Given the description of an element on the screen output the (x, y) to click on. 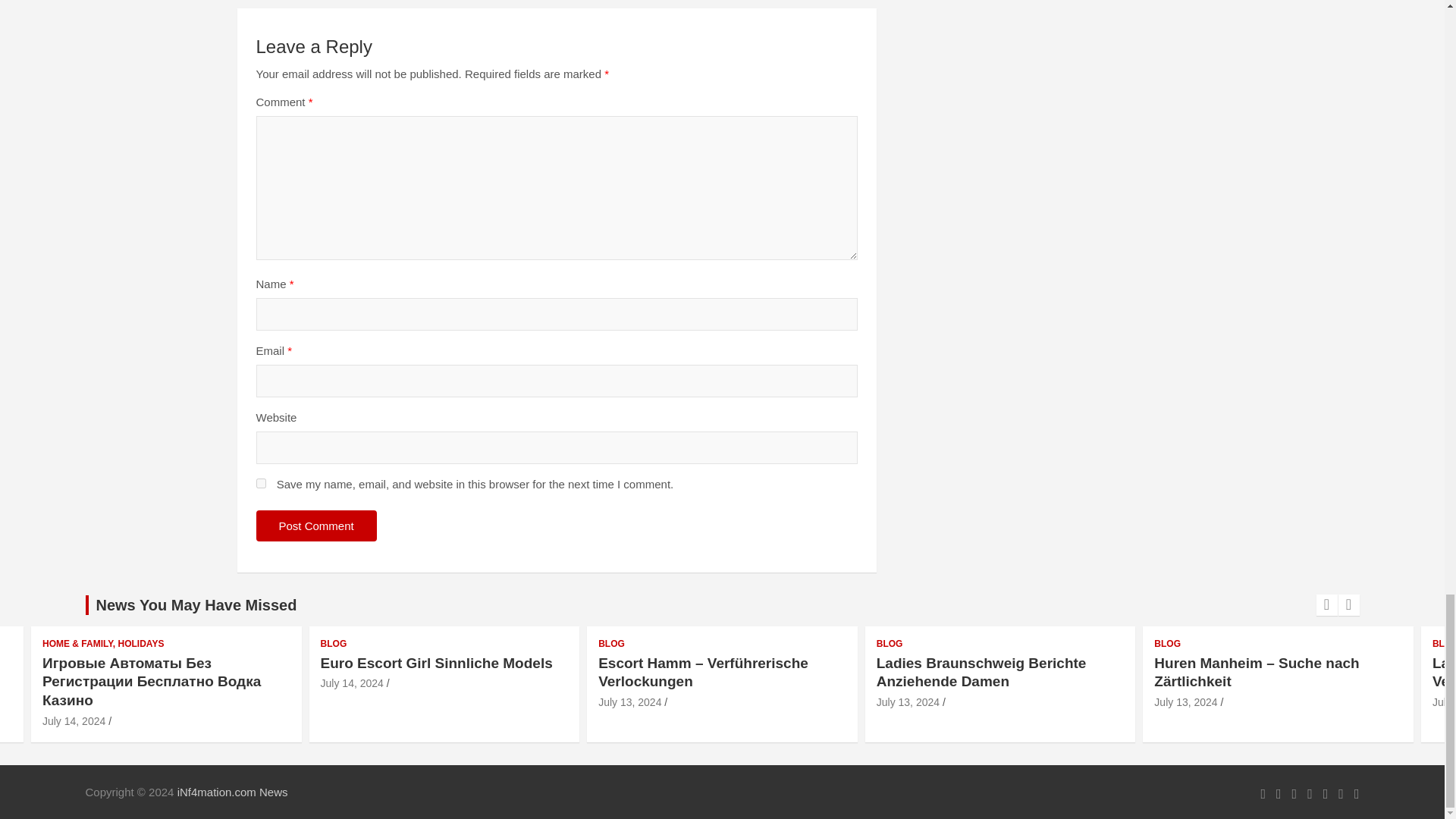
Post Comment (316, 525)
yes (261, 483)
Post Comment (316, 525)
